Given the description of an element on the screen output the (x, y) to click on. 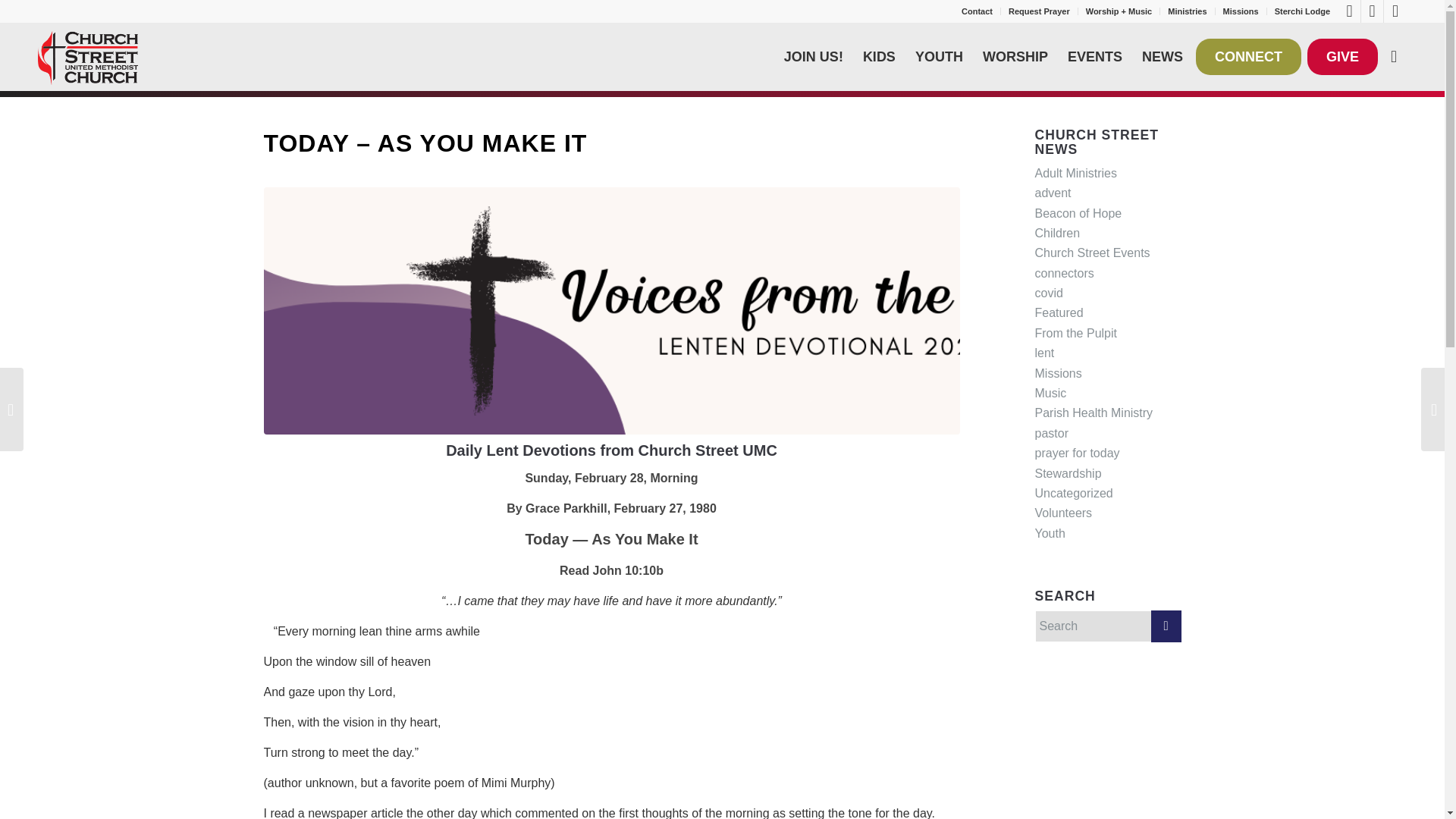
Facebook (1348, 11)
Sterchi Lodge (1302, 11)
JOIN US! (813, 56)
CONNECT (1248, 56)
Ministries (1187, 11)
Contact (976, 11)
YOUTH (938, 56)
Request Prayer (1039, 11)
Youtube (1372, 11)
Instagram (1395, 11)
NEWS (1162, 56)
Missions (1241, 11)
WORSHIP (1015, 56)
EVENTS (1095, 56)
